Given the description of an element on the screen output the (x, y) to click on. 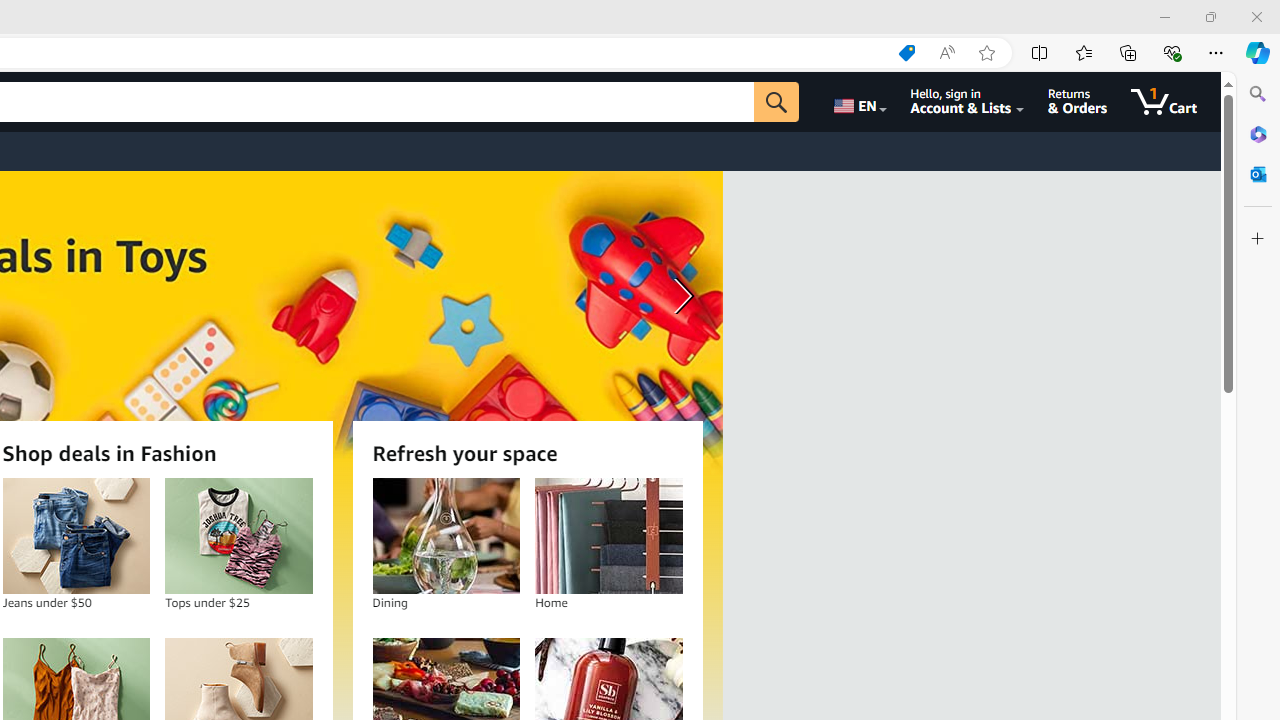
Hello, sign in Account & Lists (967, 101)
Dining (445, 536)
Tops under $25 (238, 536)
Returns & Orders (1077, 101)
Jeans under $50 (75, 536)
Tops under $25 (239, 536)
